Given the description of an element on the screen output the (x, y) to click on. 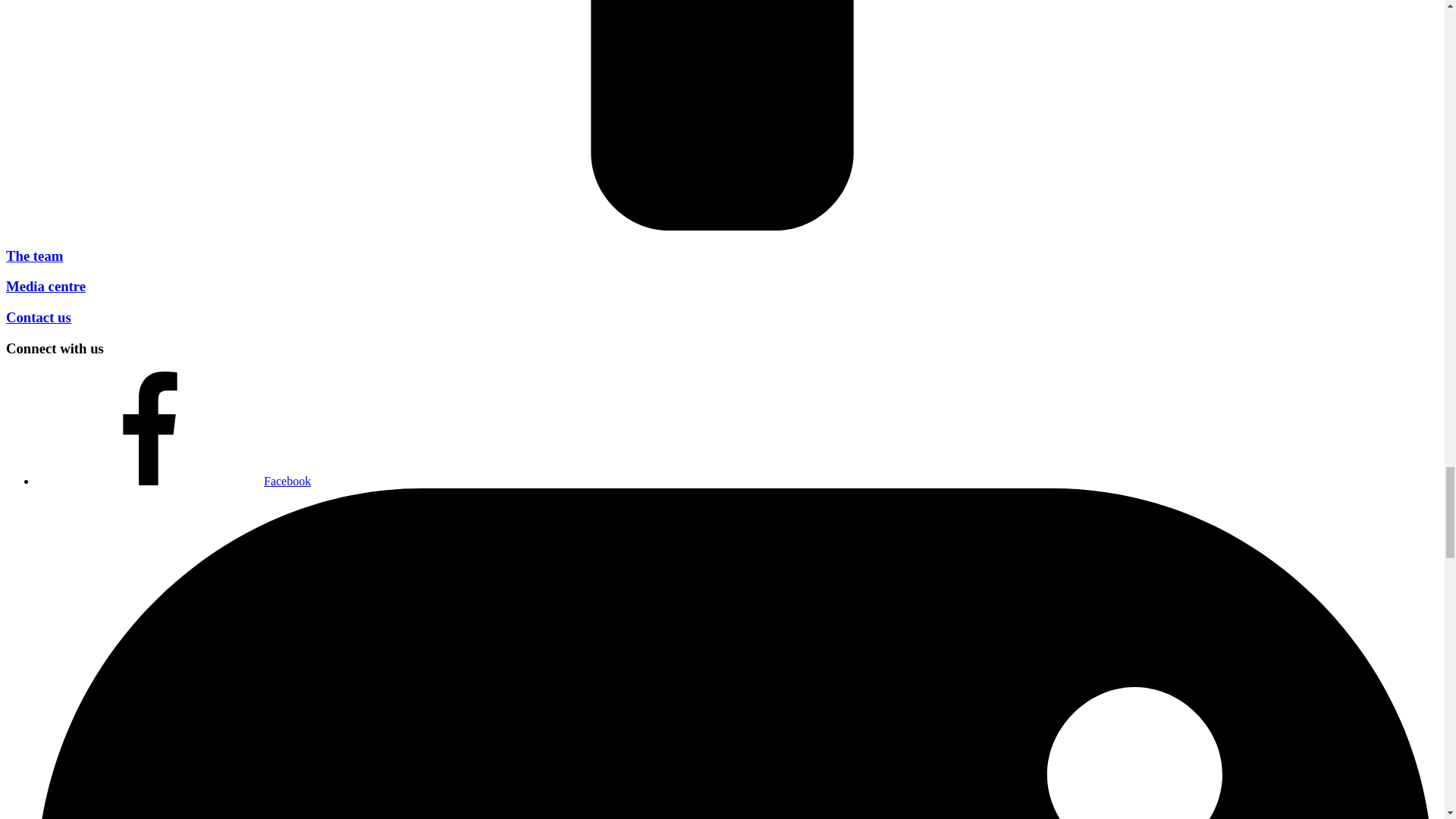
The team (33, 255)
Media centre (45, 286)
Contact us (38, 317)
Facebook (173, 481)
